Given the description of an element on the screen output the (x, y) to click on. 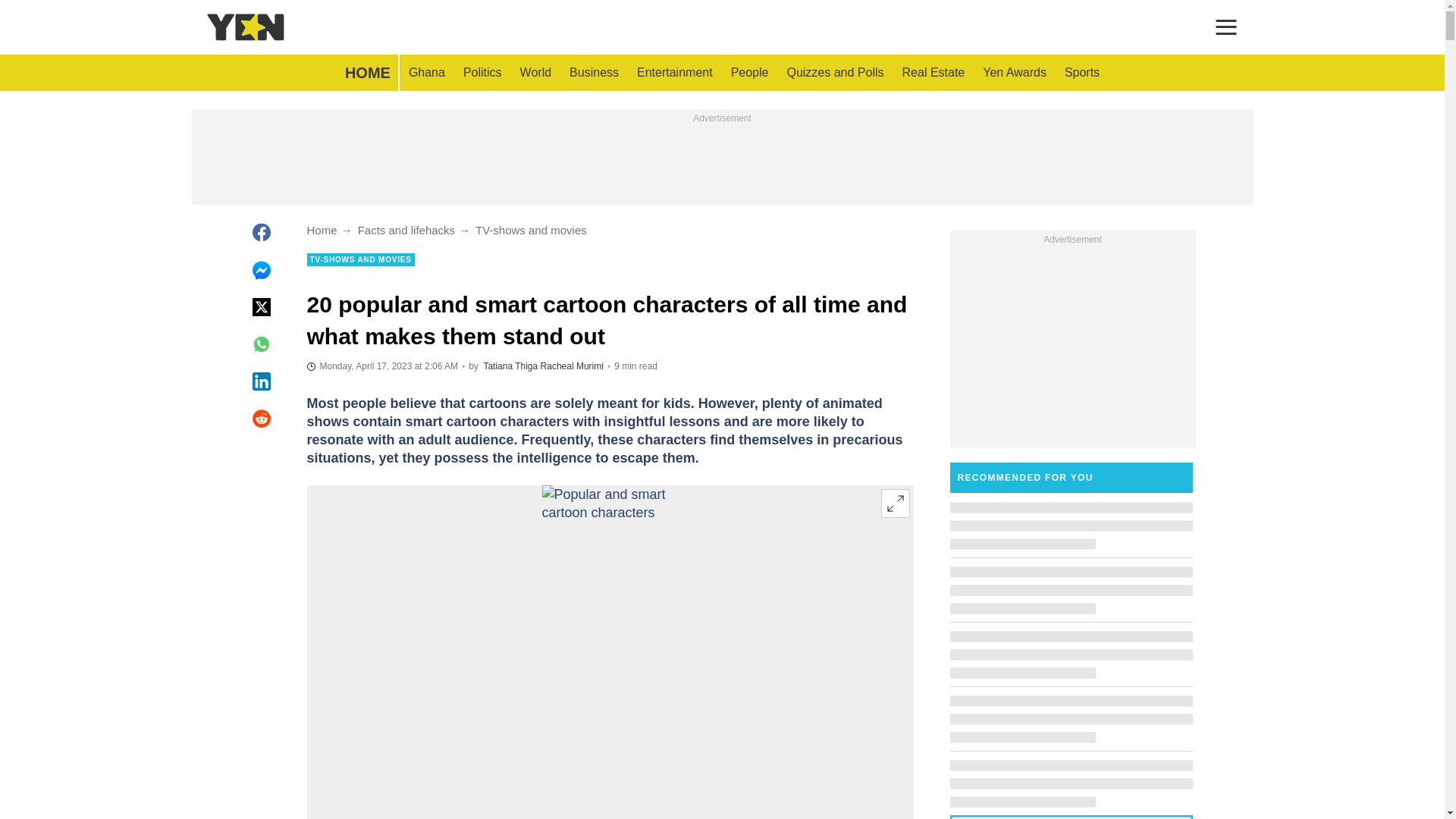
Entertainment (674, 72)
Yen Awards (1014, 72)
Sports (1081, 72)
World (535, 72)
Author page (510, 366)
People (749, 72)
Expand image (895, 502)
Author page (572, 366)
2023-04-17T02:06:00Z (381, 366)
Business (593, 72)
